Given the description of an element on the screen output the (x, y) to click on. 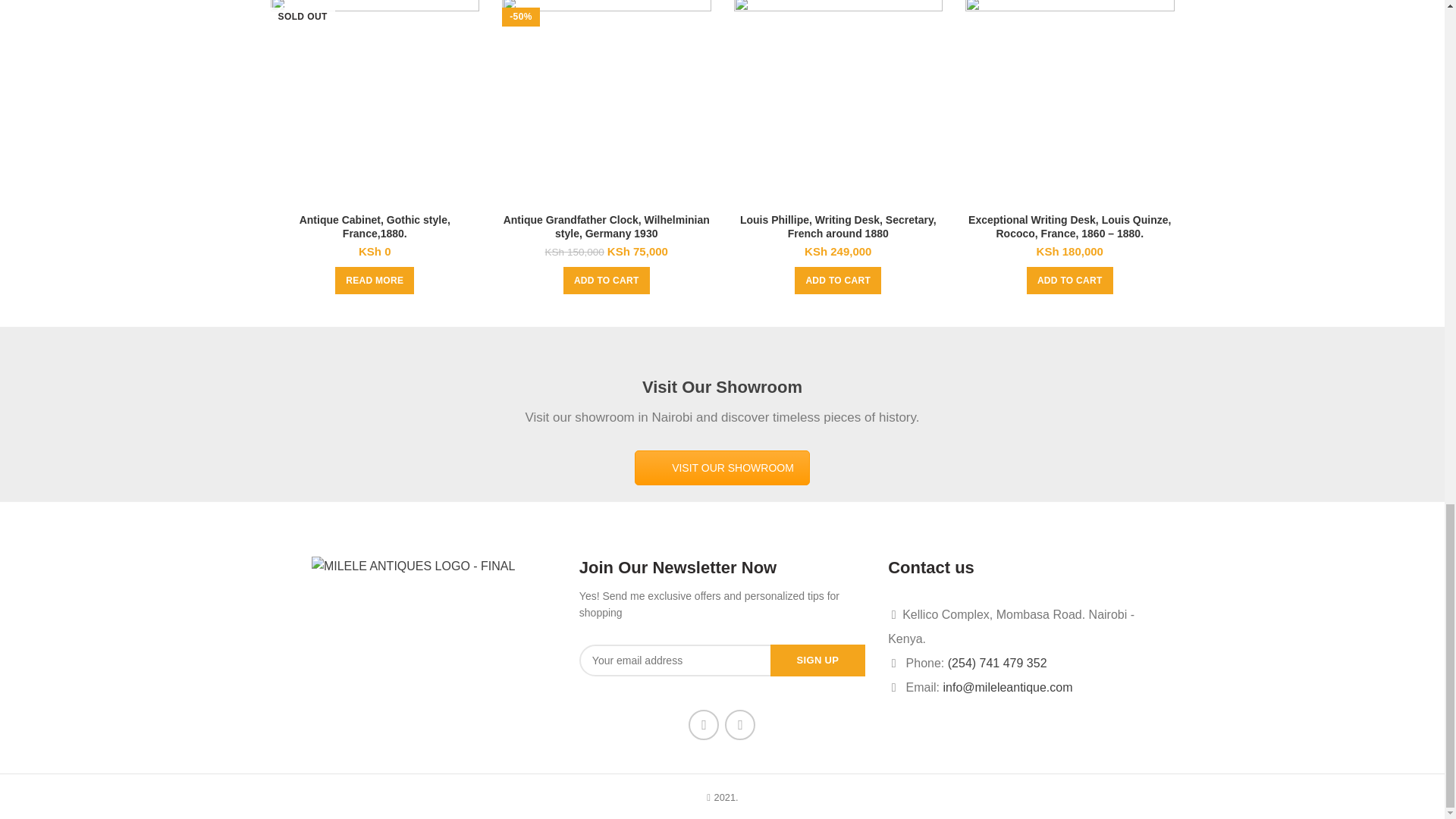
Contact Us (721, 467)
MILELE ANTIQUES LOGO - FINAL (413, 566)
Sign up (818, 660)
